Given the description of an element on the screen output the (x, y) to click on. 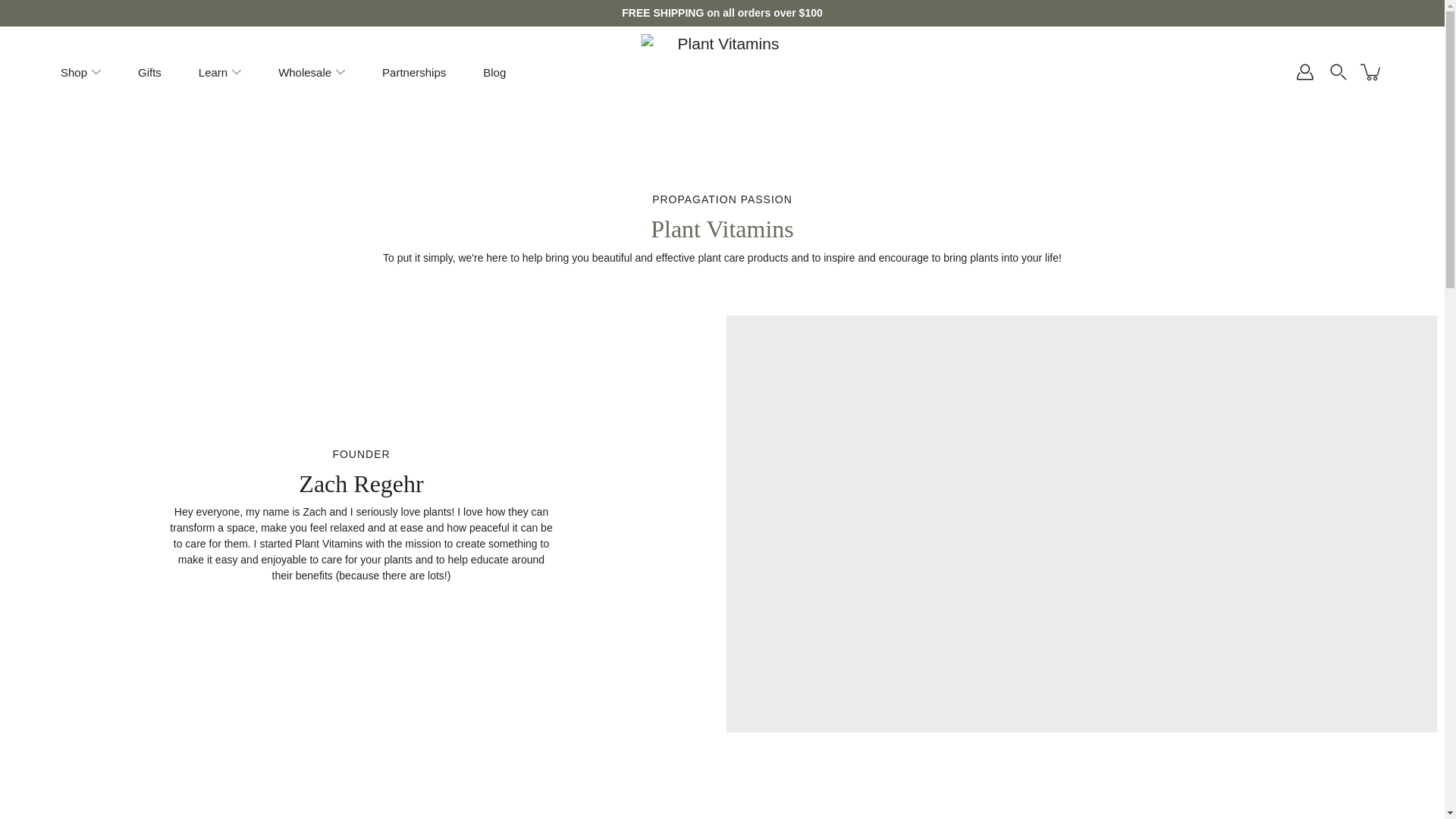
Partnerships (413, 71)
Learn (212, 71)
Gifts (149, 71)
Blog (494, 71)
Wholesale (304, 71)
Shop (74, 71)
